Given the description of an element on the screen output the (x, y) to click on. 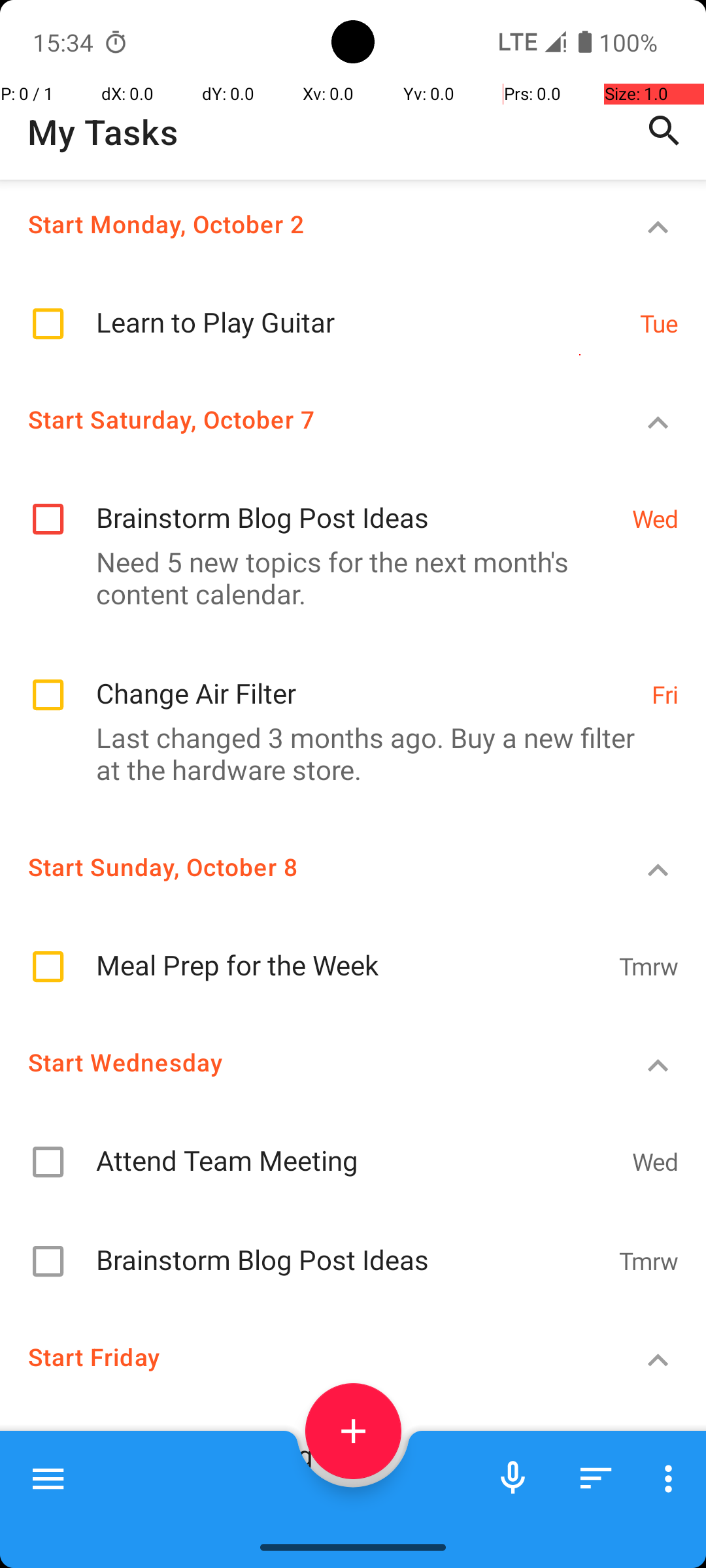
Start Monday, October 2 Element type: android.widget.TextView (304, 223)
Start Saturday, October 7 Element type: android.widget.TextView (304, 419)
Start Sunday, October 8 Element type: android.widget.TextView (304, 866)
Start Wednesday Element type: android.widget.TextView (304, 1061)
Start Friday Element type: android.widget.TextView (304, 1356)
Start yesterday Element type: android.widget.TextView (304, 1516)
Need 5 new topics for the next month's content calendar. Element type: android.widget.TextView (346, 577)
